Given the description of an element on the screen output the (x, y) to click on. 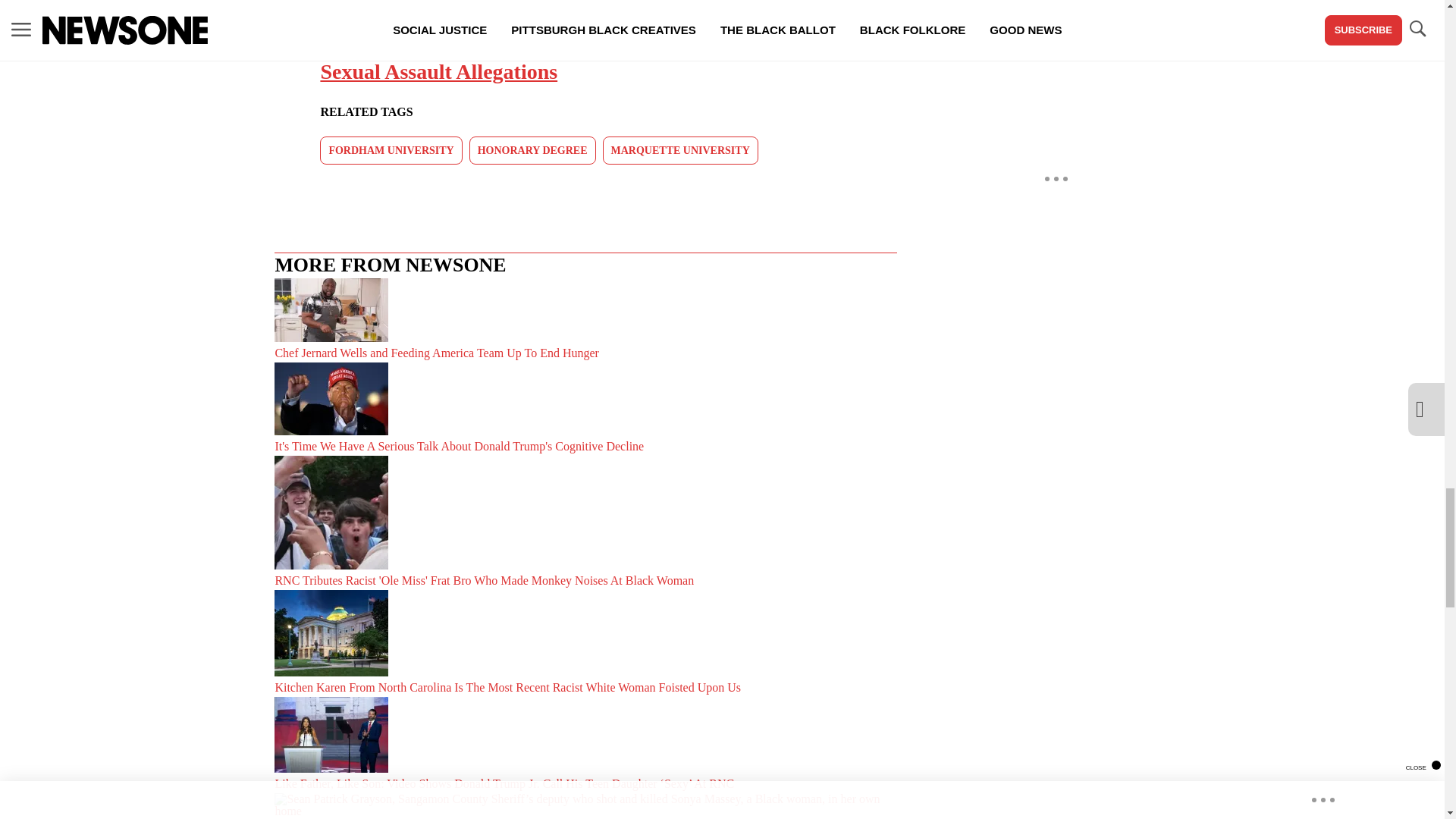
MARQUETTE UNIVERSITY (680, 150)
HONORARY DEGREE (531, 150)
FORDHAM UNIVERSITY (390, 150)
Chef Jernard Wells and Feeding America Team Up To End Hunger (585, 320)
